Given the description of an element on the screen output the (x, y) to click on. 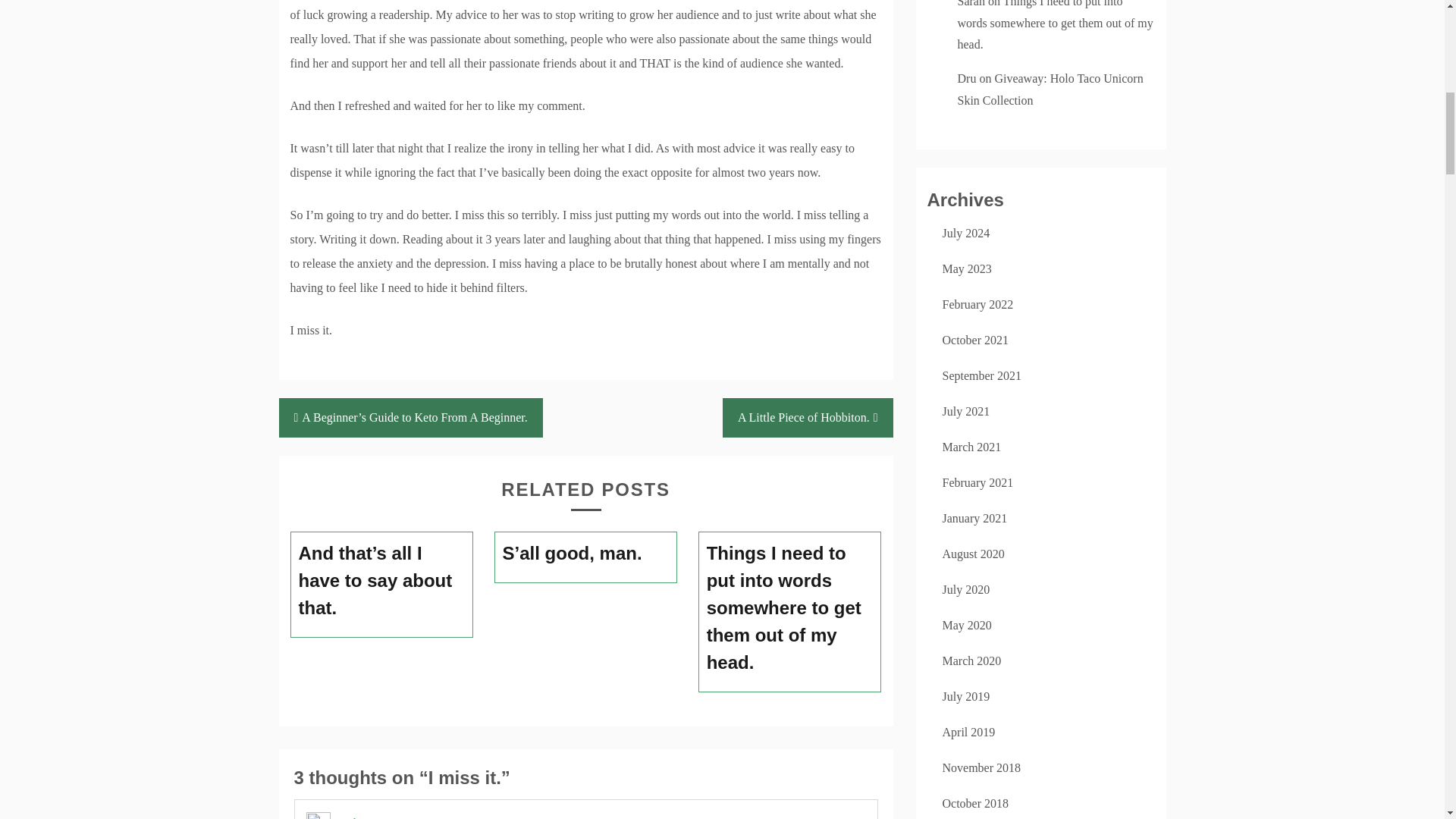
A Little Piece of Hobbiton. (807, 417)
Katie (347, 817)
May 2023 (966, 268)
July 2024 (966, 232)
Giveaway: Holo Taco Unicorn Skin Collection (1049, 89)
February 2022 (977, 304)
October 2021 (975, 339)
